Given the description of an element on the screen output the (x, y) to click on. 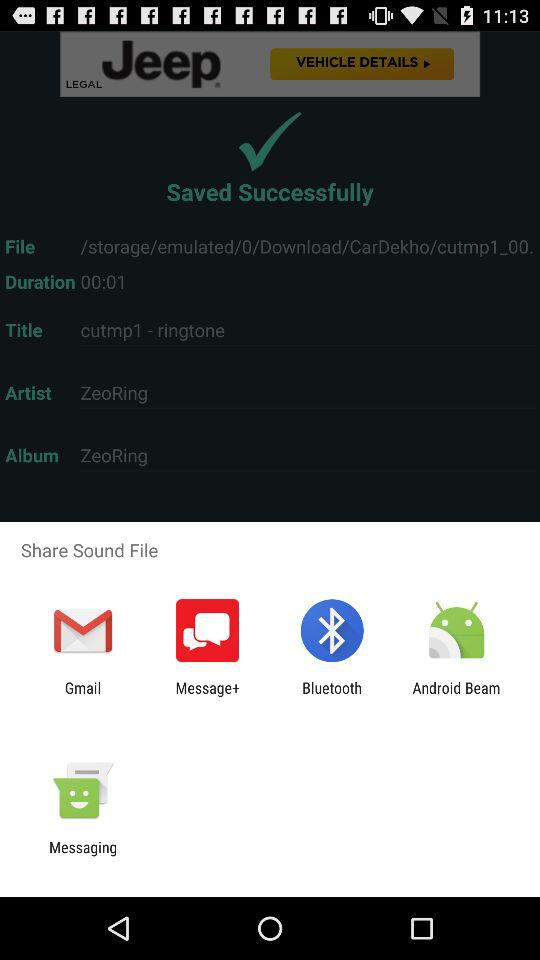
choose the message+ item (207, 696)
